Given the description of an element on the screen output the (x, y) to click on. 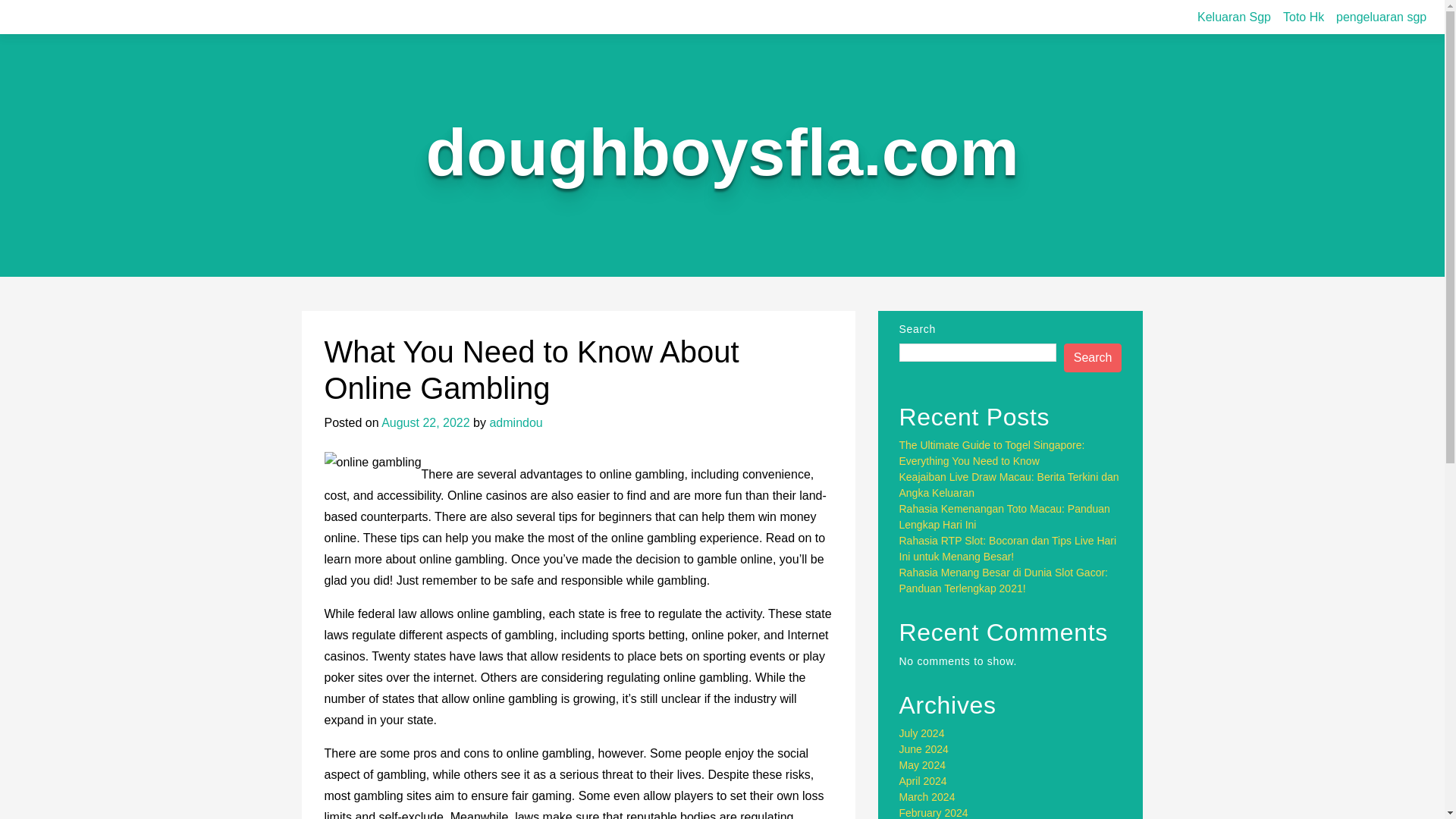
July 2024 (921, 733)
Keluaran Sgp (1233, 16)
April 2024 (923, 780)
Toto Hk (1303, 16)
Search (1093, 357)
May 2024 (921, 765)
Toto Hk (1303, 16)
Keluaran Sgp (1233, 16)
admindou (515, 422)
August 22, 2022 (425, 422)
pengeluaran sgp (1381, 16)
pengeluaran sgp (1381, 16)
